Given the description of an element on the screen output the (x, y) to click on. 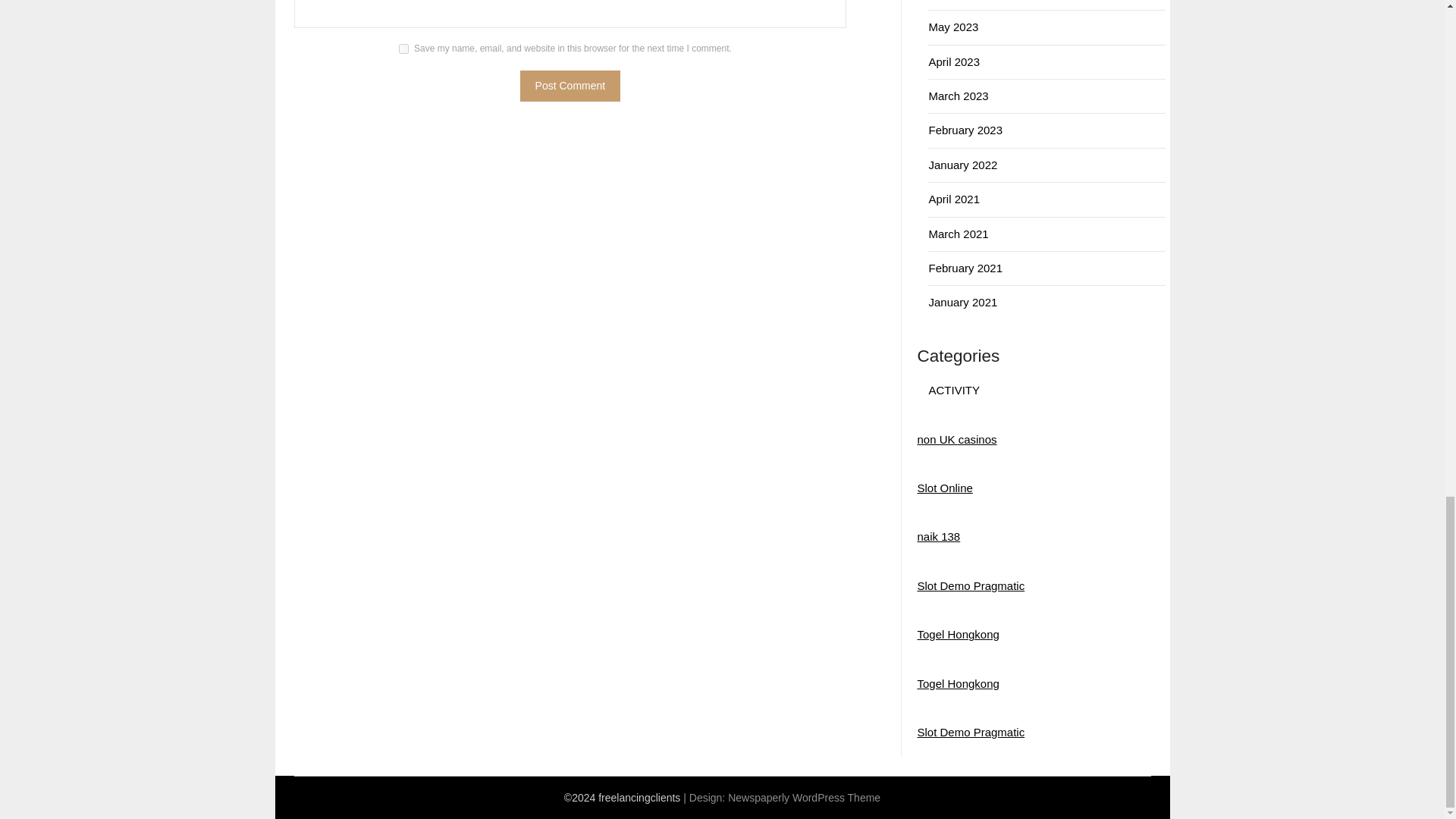
Post Comment (570, 84)
Post Comment (570, 84)
February 2023 (965, 129)
yes (403, 49)
May 2023 (953, 26)
April 2023 (953, 61)
March 2023 (958, 95)
